Given the description of an element on the screen output the (x, y) to click on. 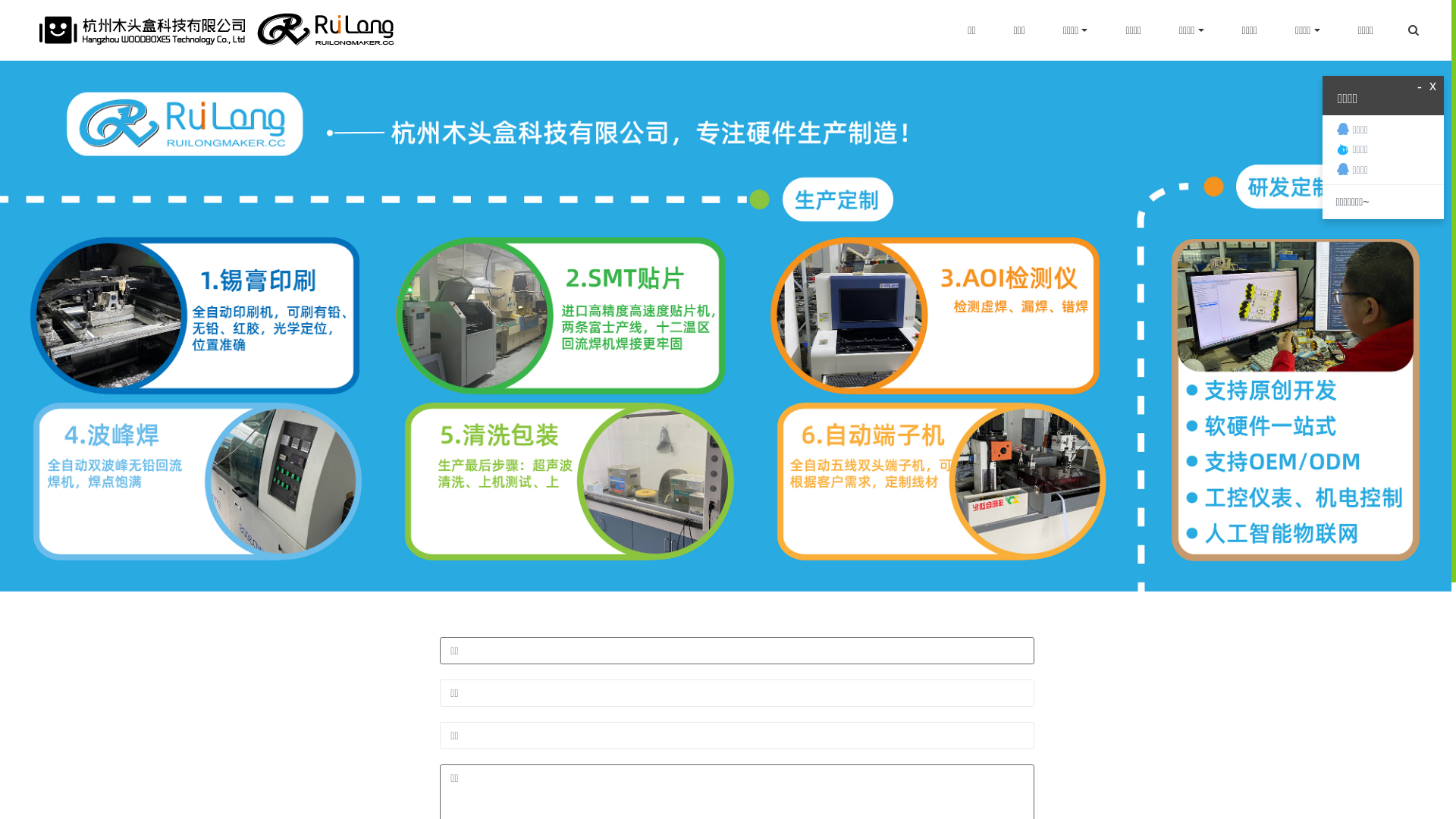
- Element type: text (1419, 87)
x Element type: text (1432, 86)
